Given the description of an element on the screen output the (x, y) to click on. 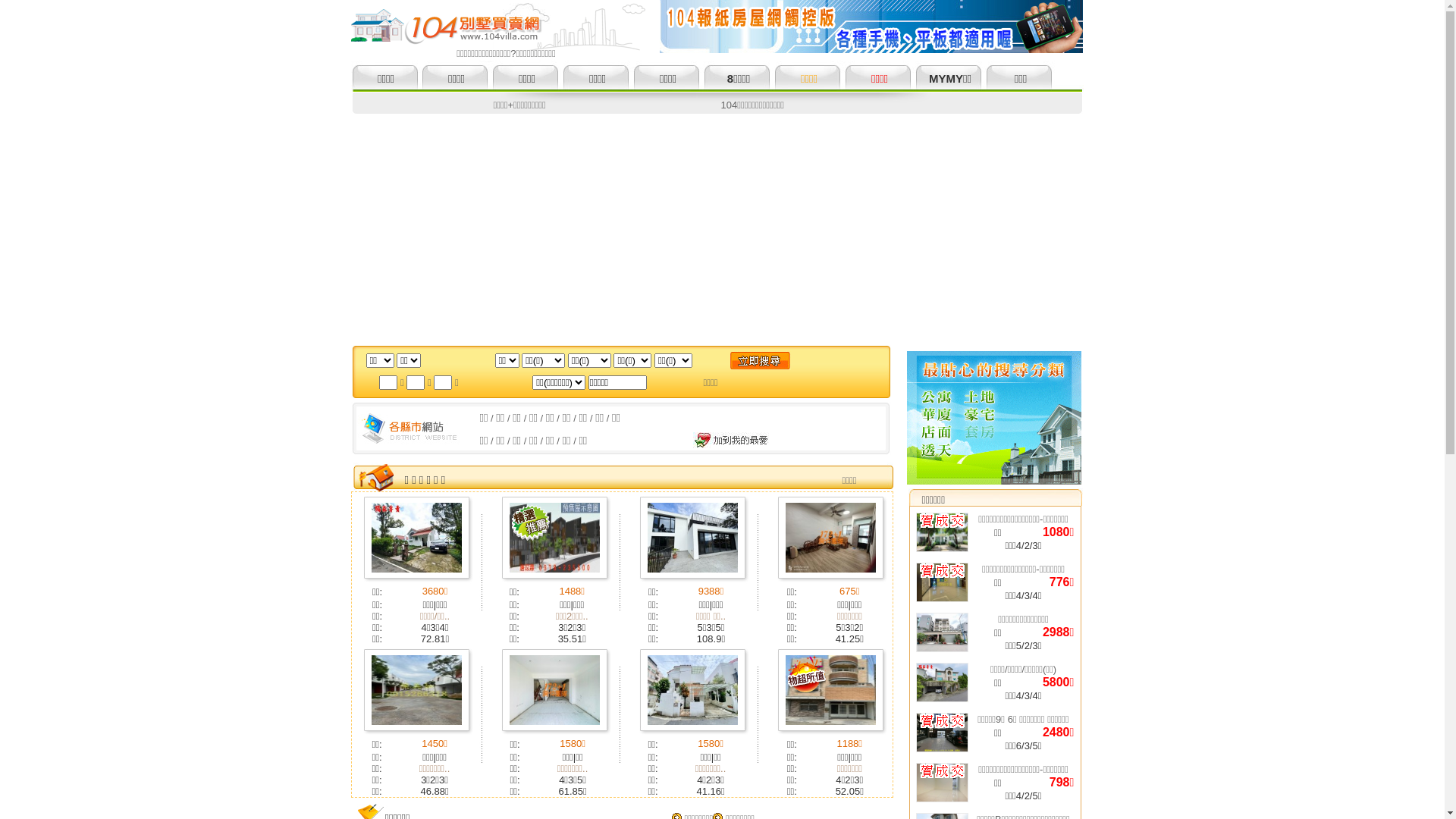
Advertisement Element type: hover (721, 227)
